Given the description of an element on the screen output the (x, y) to click on. 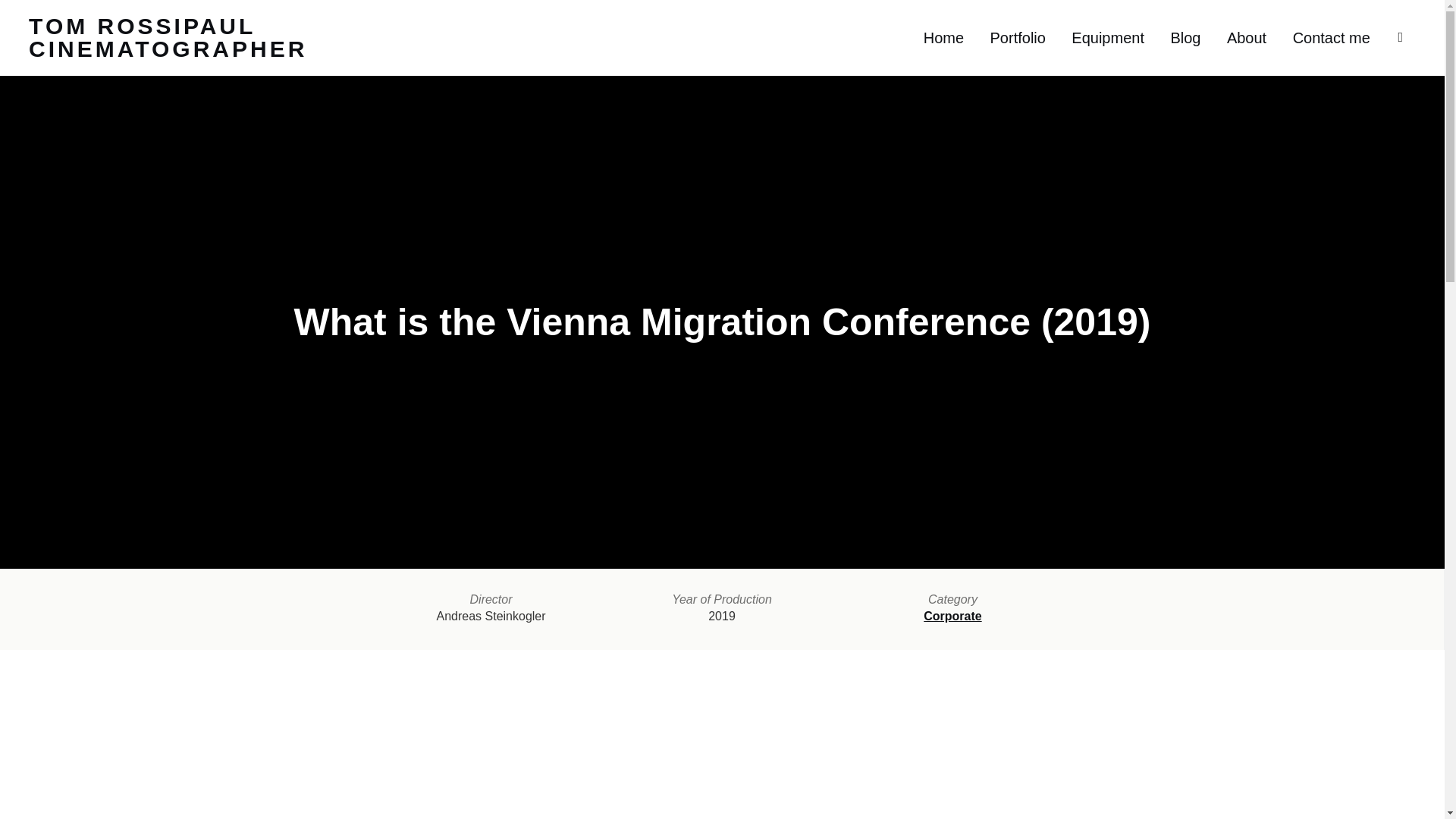
Home (943, 37)
Contact me (1331, 37)
Corporate (952, 615)
TOM ROSSIPAUL CINEMATOGRAPHER (168, 37)
About (1246, 37)
Portfolio (1017, 37)
Equipment (1107, 37)
What is the Vienna Migration Conference? (721, 753)
Search (15, 15)
Blog (1184, 37)
